Given the description of an element on the screen output the (x, y) to click on. 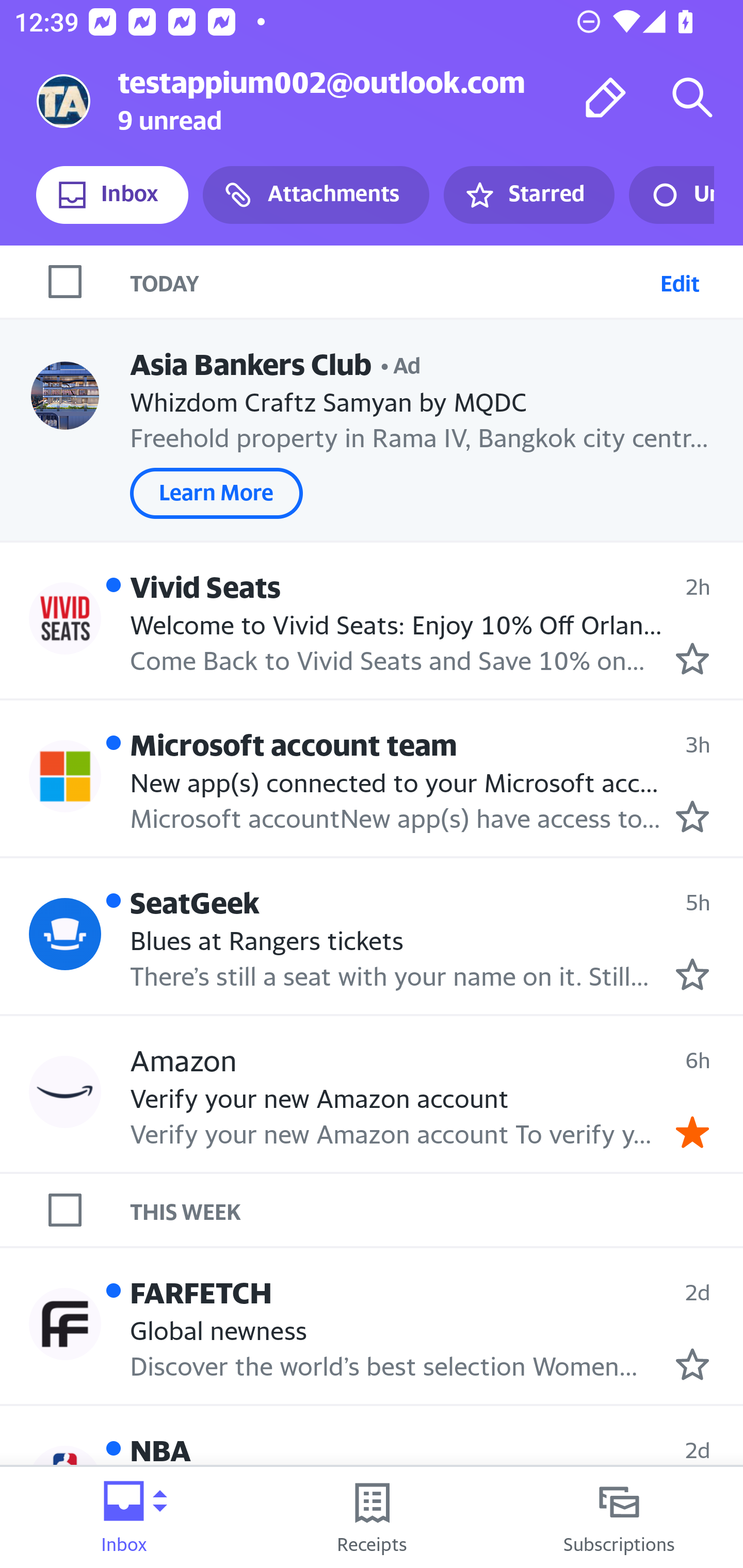
Compose (605, 97)
Search mail (692, 97)
Attachments (315, 195)
Starred (528, 195)
TODAY (391, 281)
Edit Select emails (679, 281)
Profile
Vivid Seats (64, 617)
Mark as starred. (692, 659)
Profile
Microsoft account team (64, 776)
Mark as starred. (692, 816)
Profile
SeatGeek (64, 934)
Mark as starred. (692, 974)
Profile
Amazon (64, 1091)
Remove star. (692, 1132)
THIS WEEK (436, 1209)
Profile
FARFETCH (64, 1323)
Mark as starred. (692, 1364)
Inbox Folder picker (123, 1517)
Receipts (371, 1517)
Subscriptions (619, 1517)
